Given the description of an element on the screen output the (x, y) to click on. 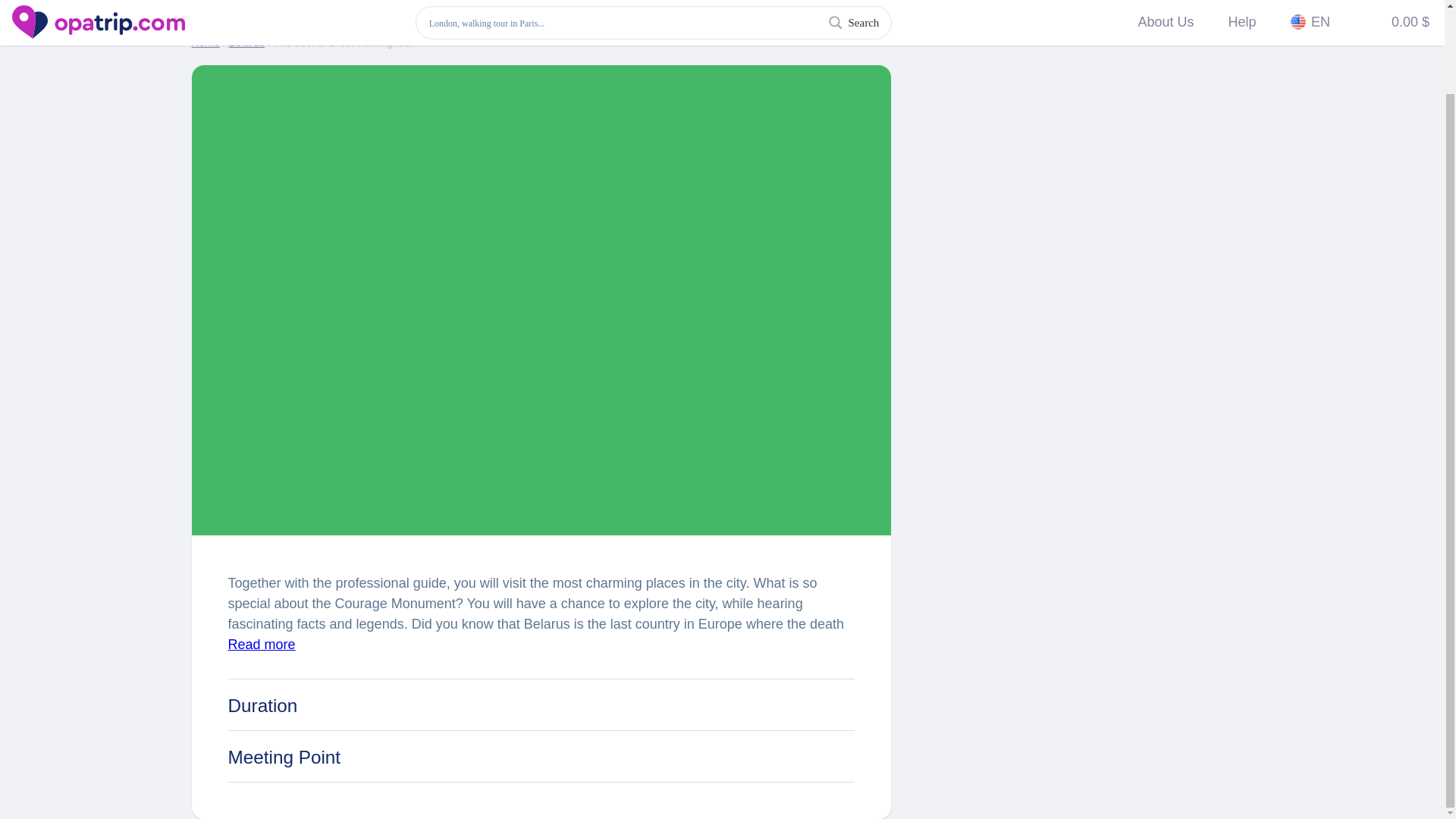
Home (204, 42)
Read more (261, 644)
Belarus (246, 42)
